Given the description of an element on the screen output the (x, y) to click on. 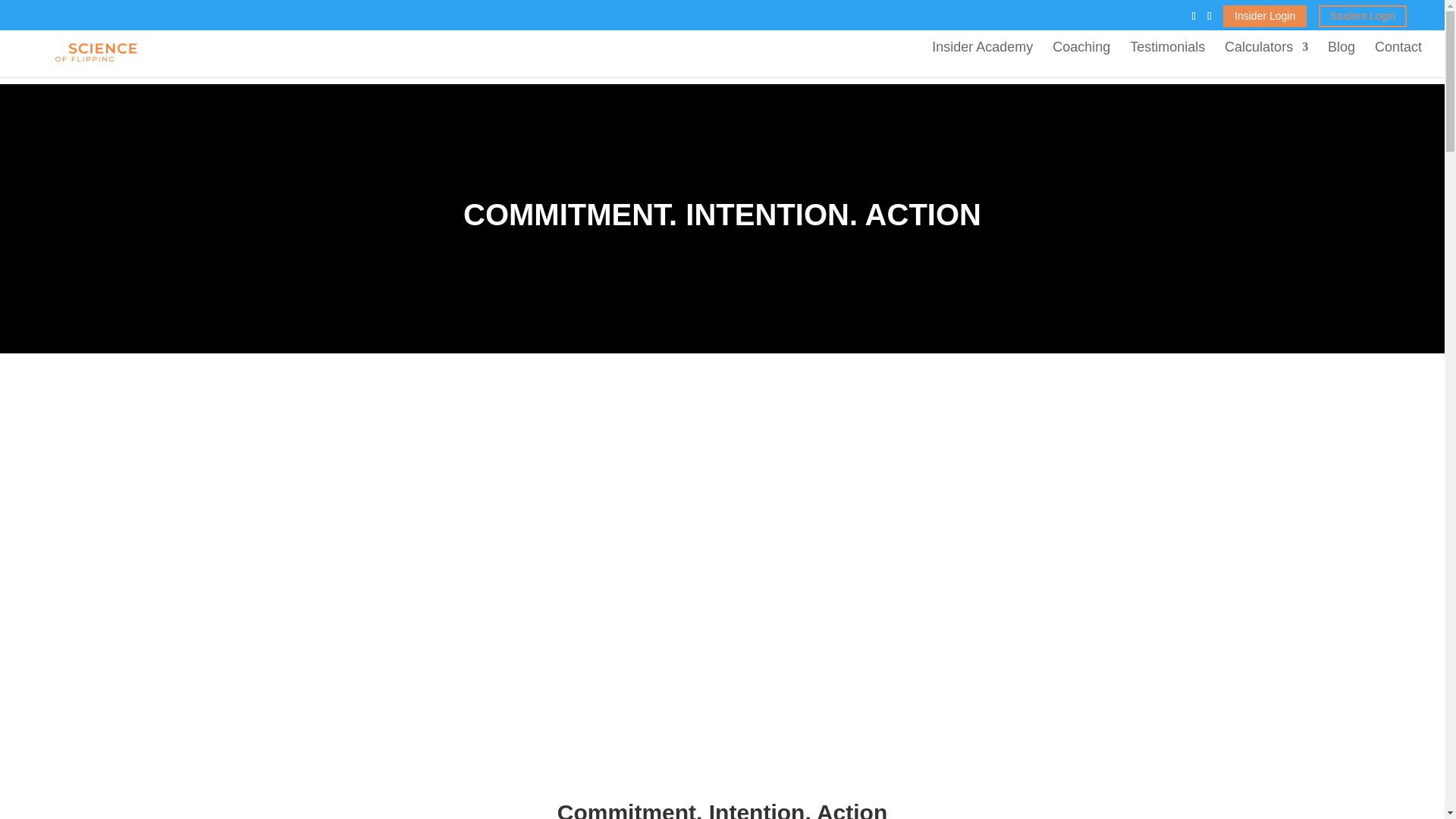
Testimonials (1167, 58)
Coaching (1080, 58)
Contact (1398, 58)
Student Login (1362, 15)
Insider Login (1264, 15)
Insider Academy (981, 58)
Calculators (1265, 58)
